Given the description of an element on the screen output the (x, y) to click on. 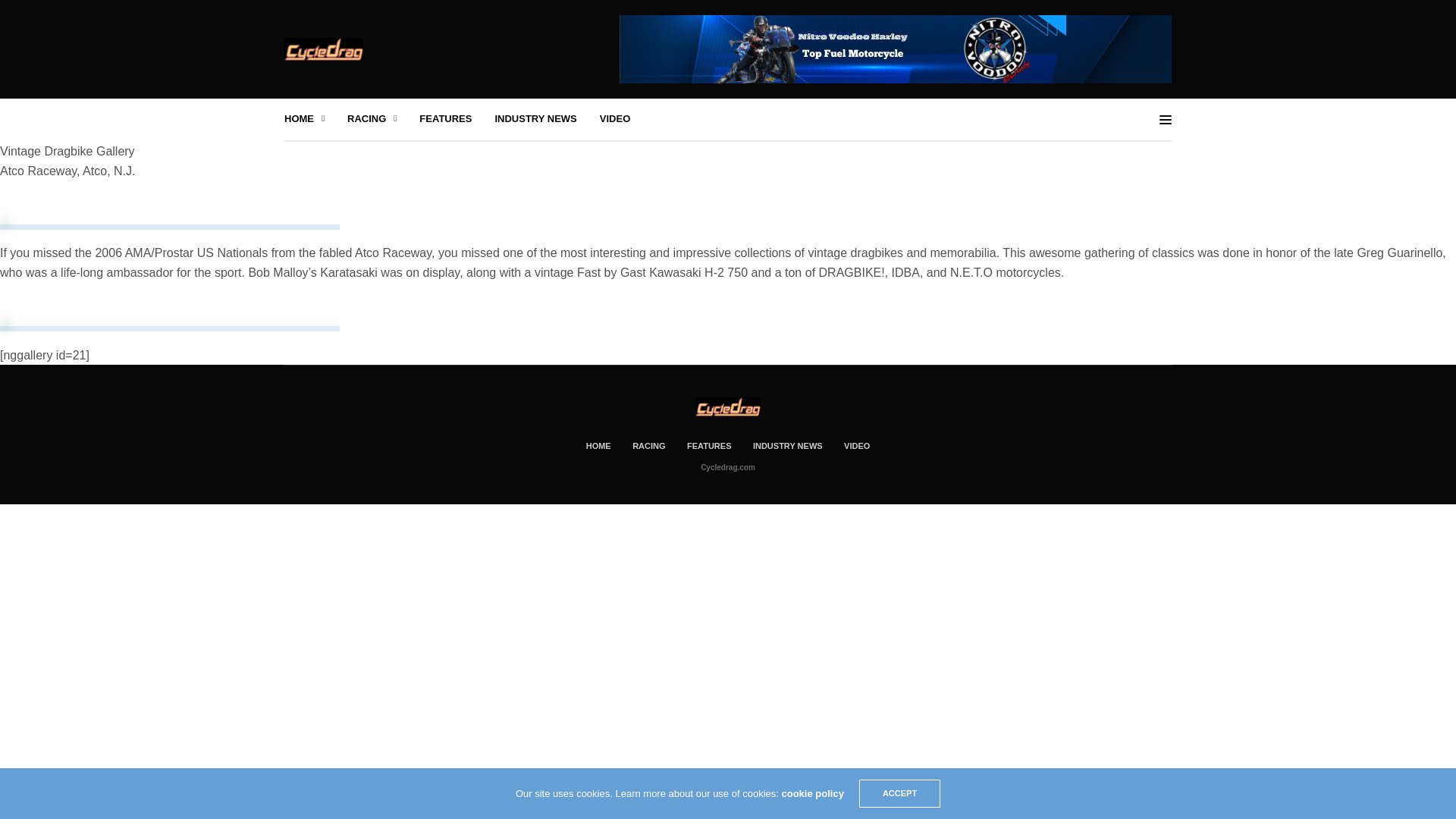
Search (1396, 20)
VIDEO (614, 119)
RACING (371, 119)
HOME (303, 119)
FEATURES (445, 119)
INDUSTRY NEWS (535, 119)
